Given the description of an element on the screen output the (x, y) to click on. 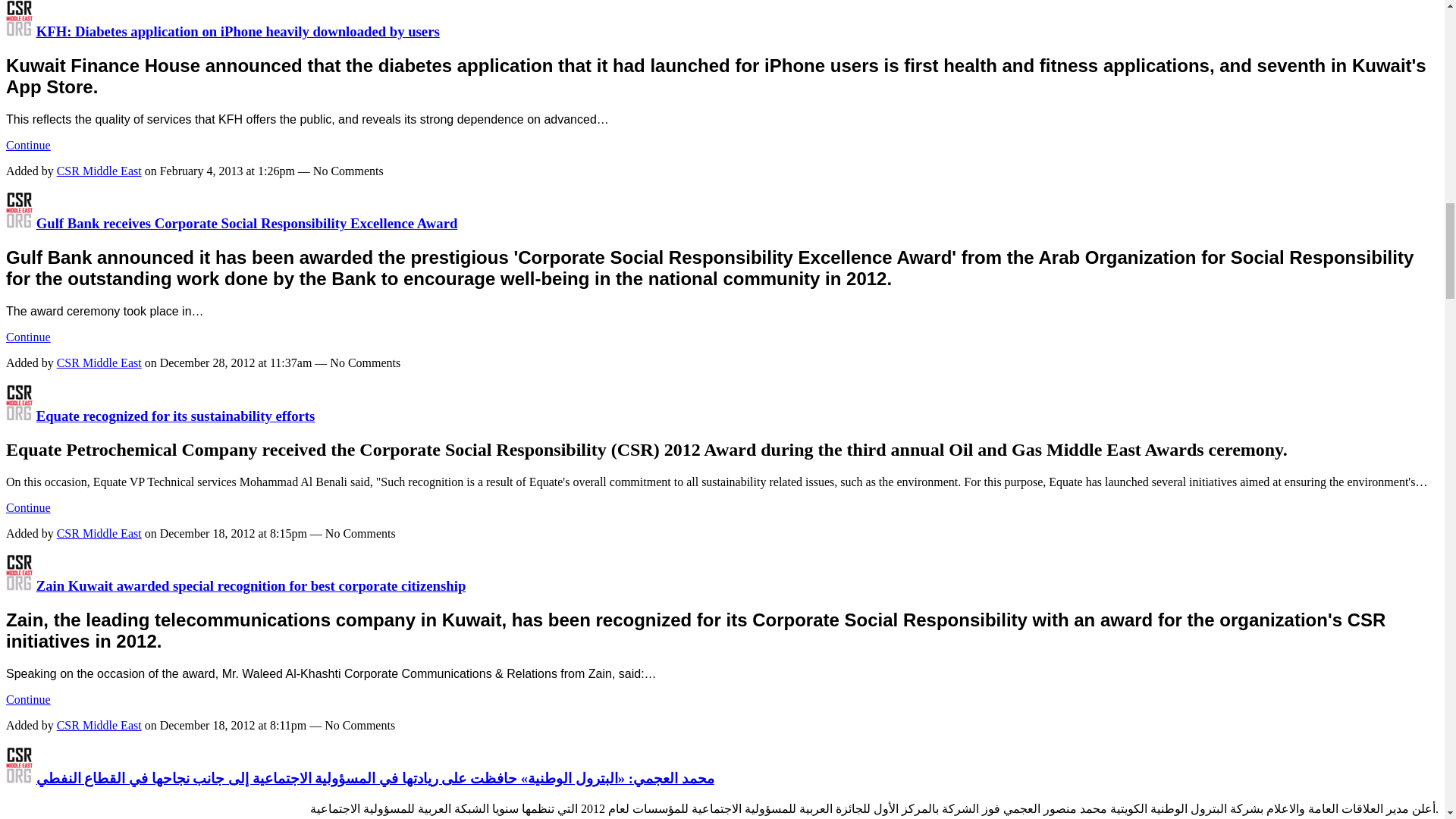
CSR Middle East (18, 31)
CSR Middle East (18, 778)
CSR Middle East (18, 585)
CSR Middle East (18, 222)
CSR Middle East (18, 415)
